Given the description of an element on the screen output the (x, y) to click on. 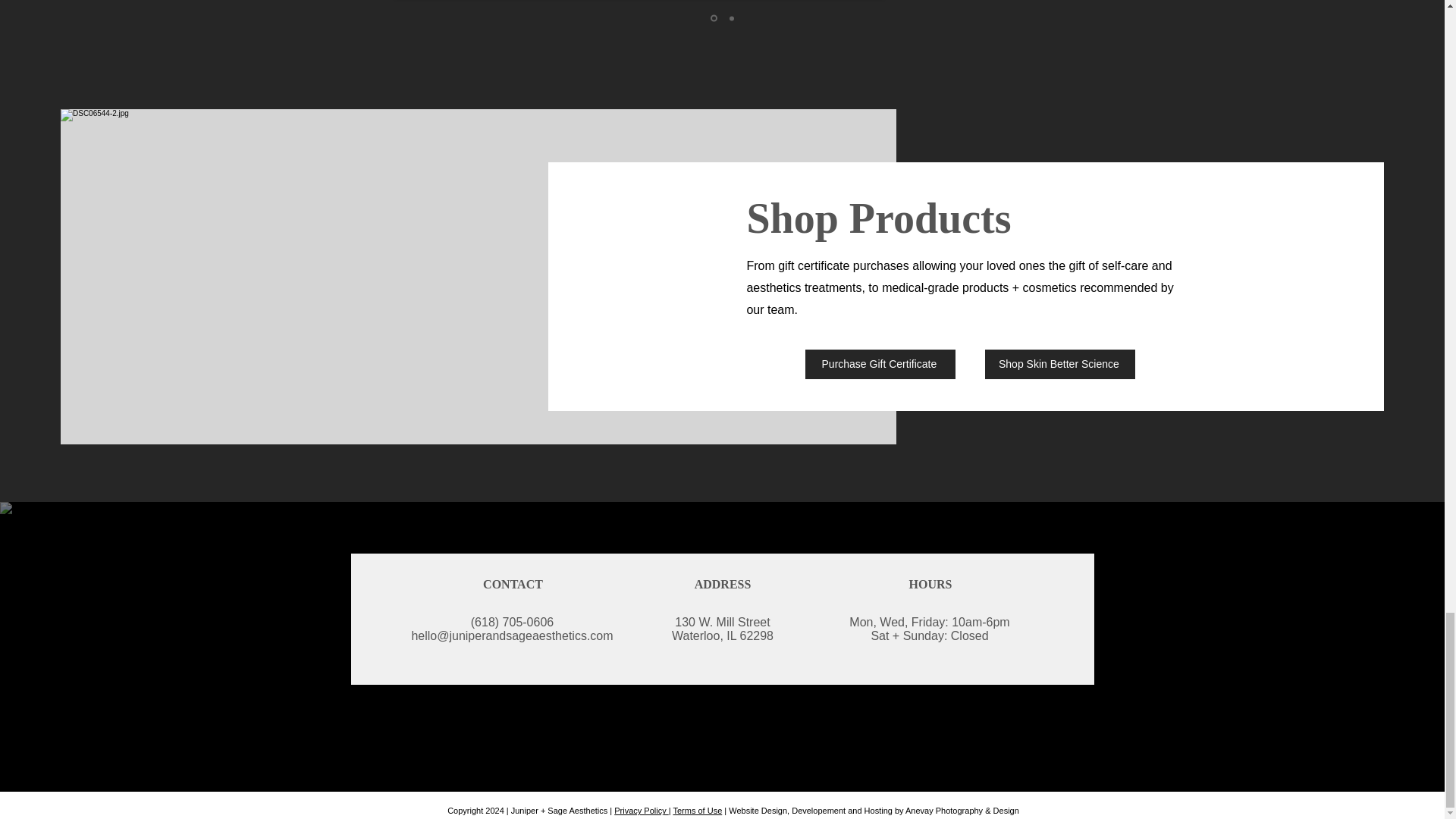
Privacy Policy (641, 809)
Shop Skin Better Science (1060, 364)
Terms of Use (697, 809)
Purchase Gift Certificate (880, 364)
